Given the description of an element on the screen output the (x, y) to click on. 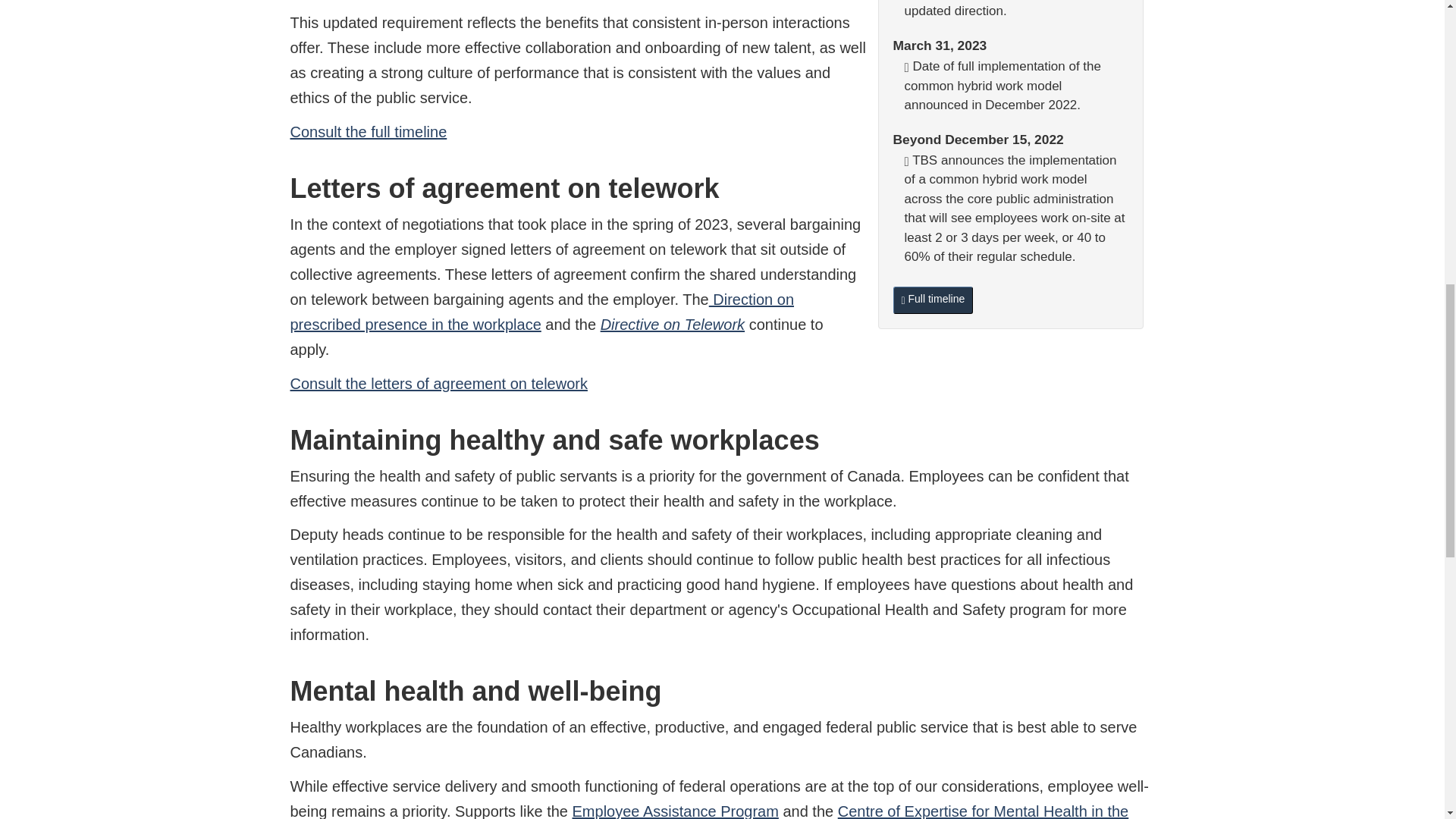
Direction on prescribed presence in the workplace (541, 311)
Consult the full timeline (367, 131)
Consult the letters of agreement on telework (437, 383)
Employee Assistance Program (675, 811)
Directive on Telework (671, 324)
 Full timeline (933, 299)
